Given the description of an element on the screen output the (x, y) to click on. 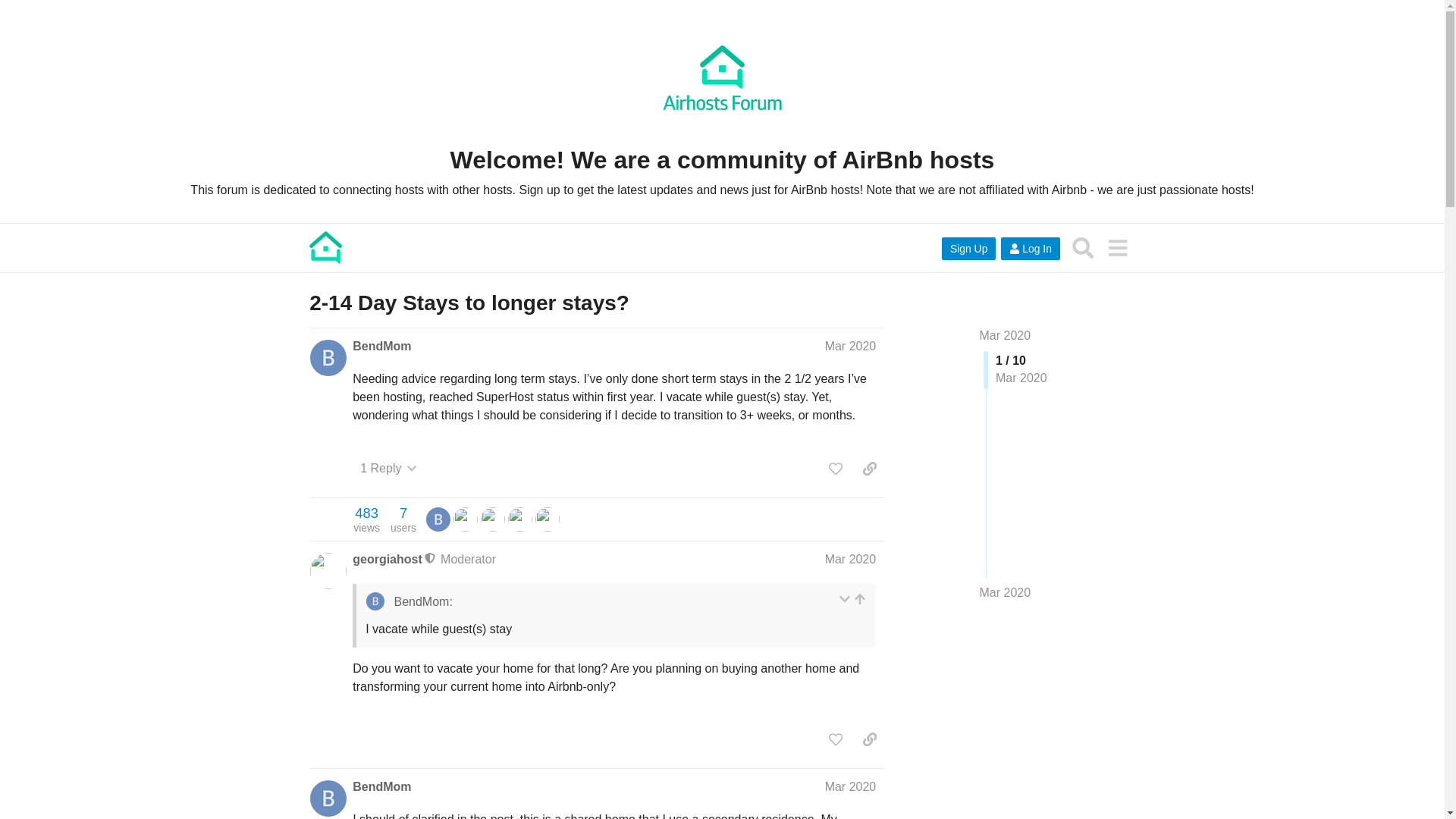
BendMom (381, 346)
Post date (850, 345)
jaquo (520, 518)
BendMom (381, 786)
like this post (835, 468)
georgiahost (403, 519)
copy a link to this post to clipboard (547, 518)
Mar 2020 (869, 468)
Jump to the first post (1004, 592)
BendMom (1004, 335)
KenH (437, 518)
Mar 2020 (464, 518)
Jump to the last post (850, 558)
Mar 2020 (1004, 592)
